Given the description of an element on the screen output the (x, y) to click on. 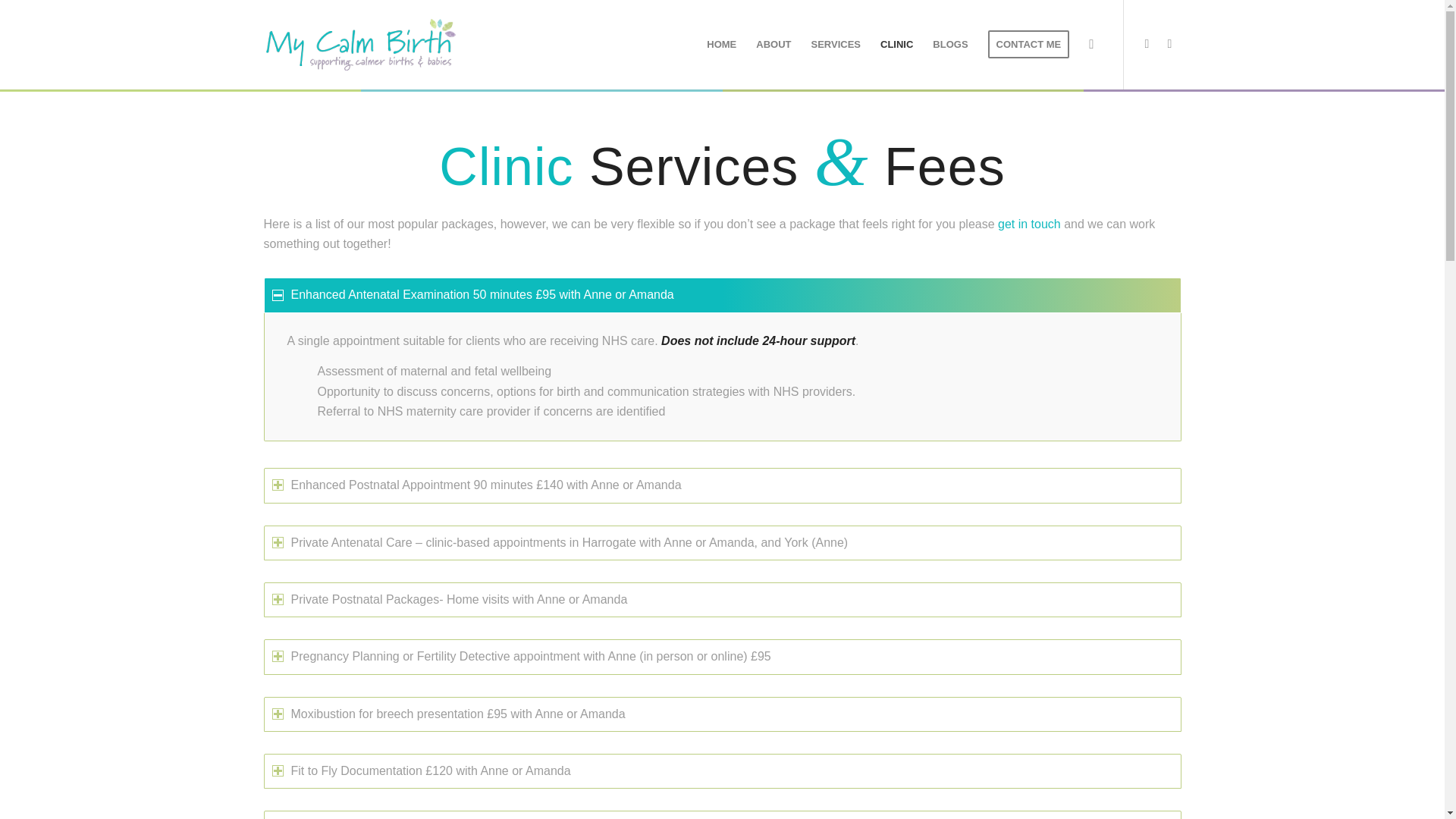
Instagram (1169, 43)
Facebook (1146, 43)
get in touch (1029, 223)
CONTACT ME (1029, 44)
